Given the description of an element on the screen output the (x, y) to click on. 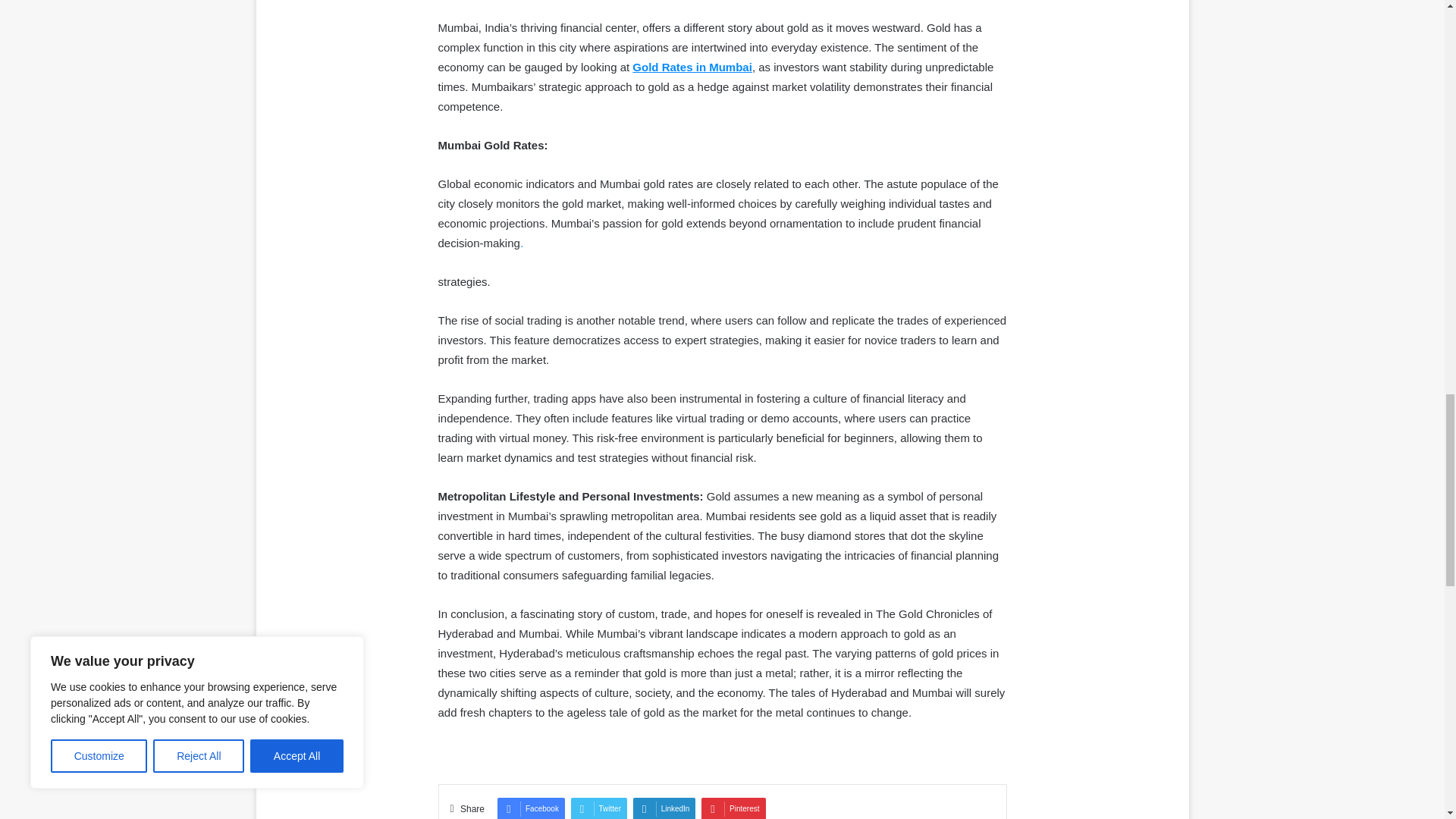
Facebook (530, 808)
